Given the description of an element on the screen output the (x, y) to click on. 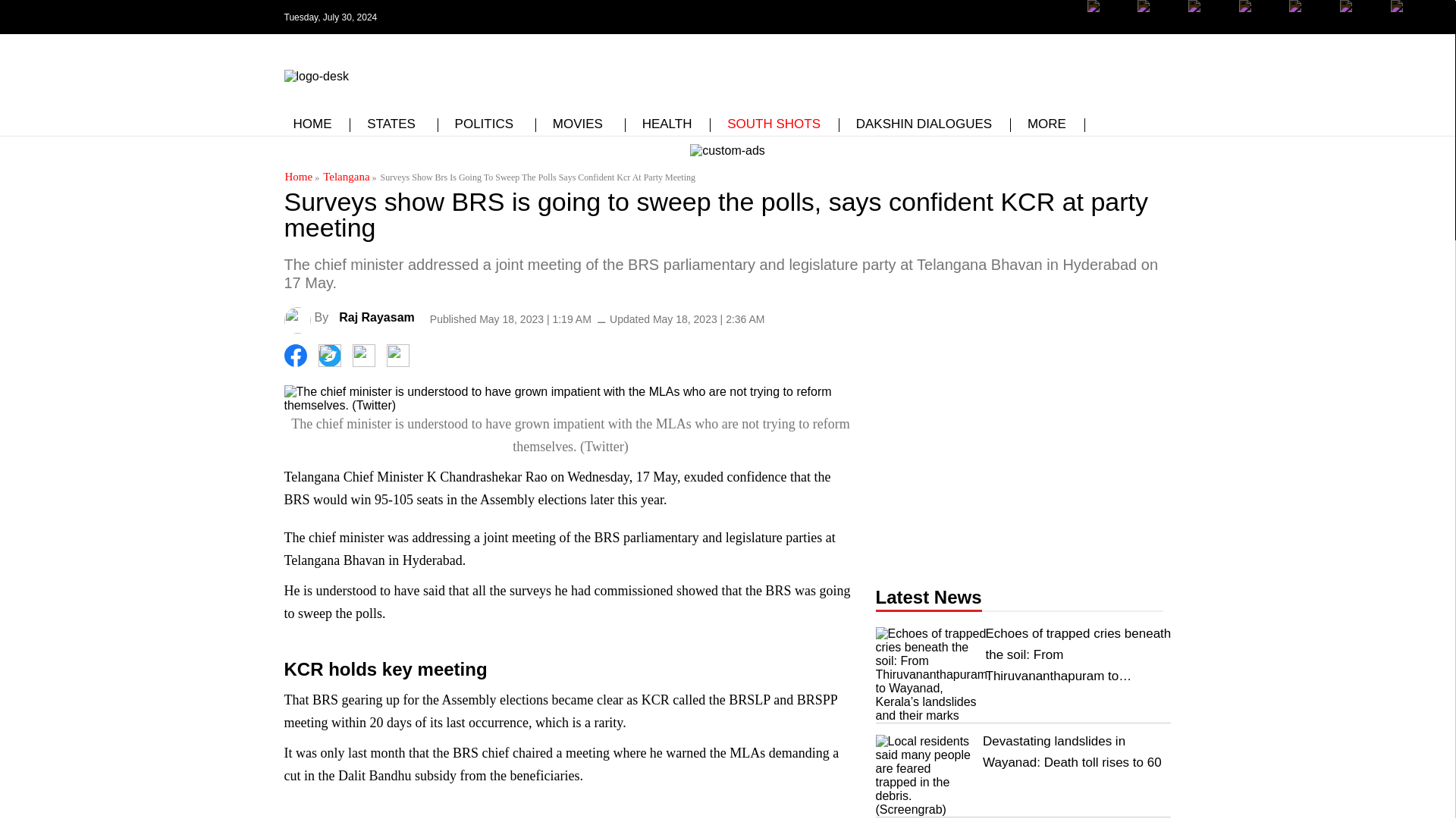
SouthFirst twitter (1158, 27)
SouthFirst facebook (1108, 27)
logo (315, 72)
SouthFirst youtube (1260, 27)
SouthFirst youtube (1309, 27)
SouthFirst facebook (1108, 16)
SouthFirst instagram (1209, 16)
logo-desk (315, 76)
SouthFirst youtube (1260, 16)
SouthFirst instagram (1209, 27)
SouthFirst twitter (1158, 16)
SouthFirst youtube (1309, 16)
